Given the description of an element on the screen output the (x, y) to click on. 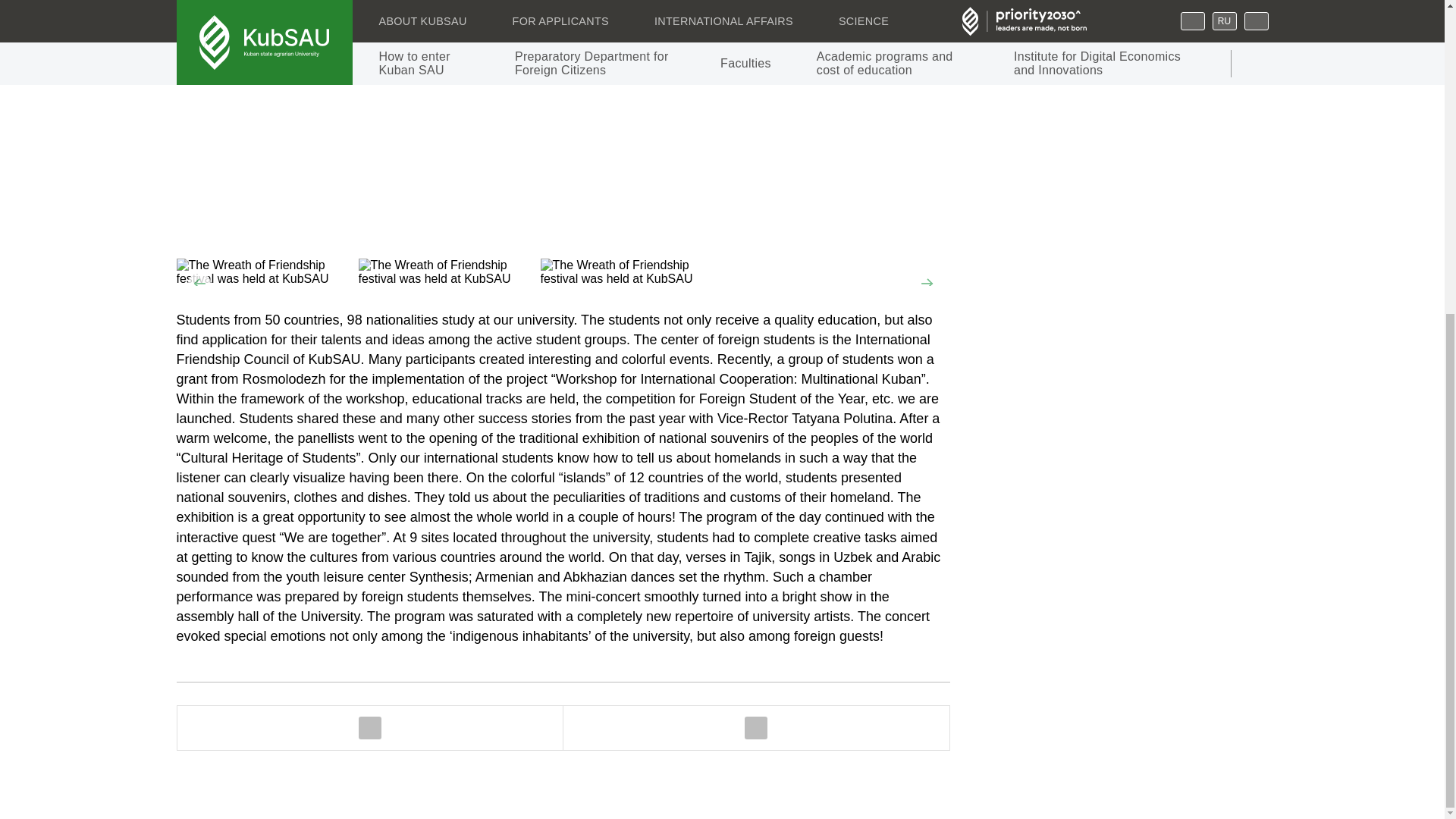
The Wreath of Friendship festival was held at KubSAU (631, 271)
The Wreath of Friendship festival was held at KubSAU (267, 271)
The Wreath of Friendship festival was held at KubSAU (449, 271)
